Given the description of an element on the screen output the (x, y) to click on. 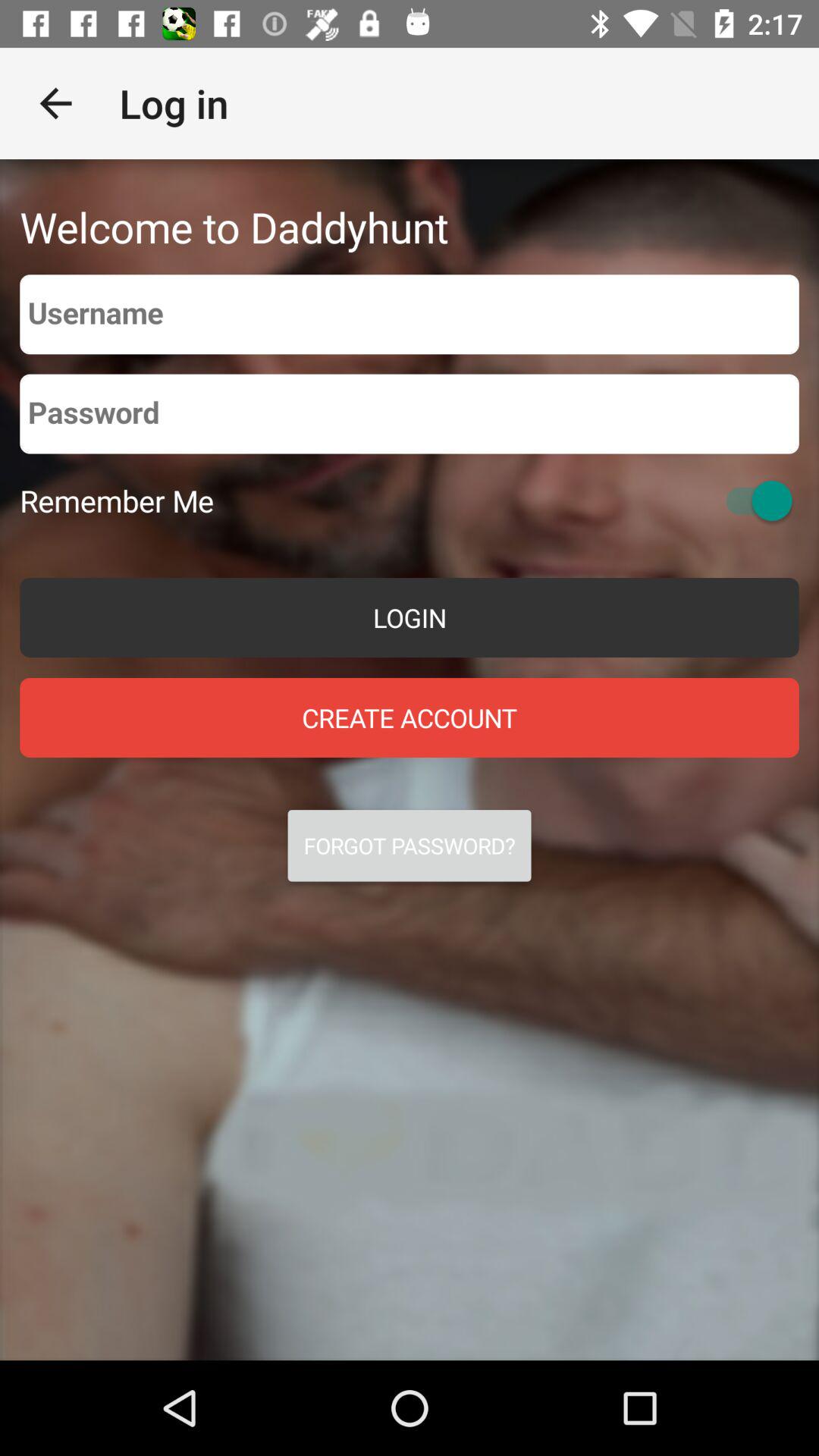
flip until welcome to daddyhunt icon (233, 226)
